Given the description of an element on the screen output the (x, y) to click on. 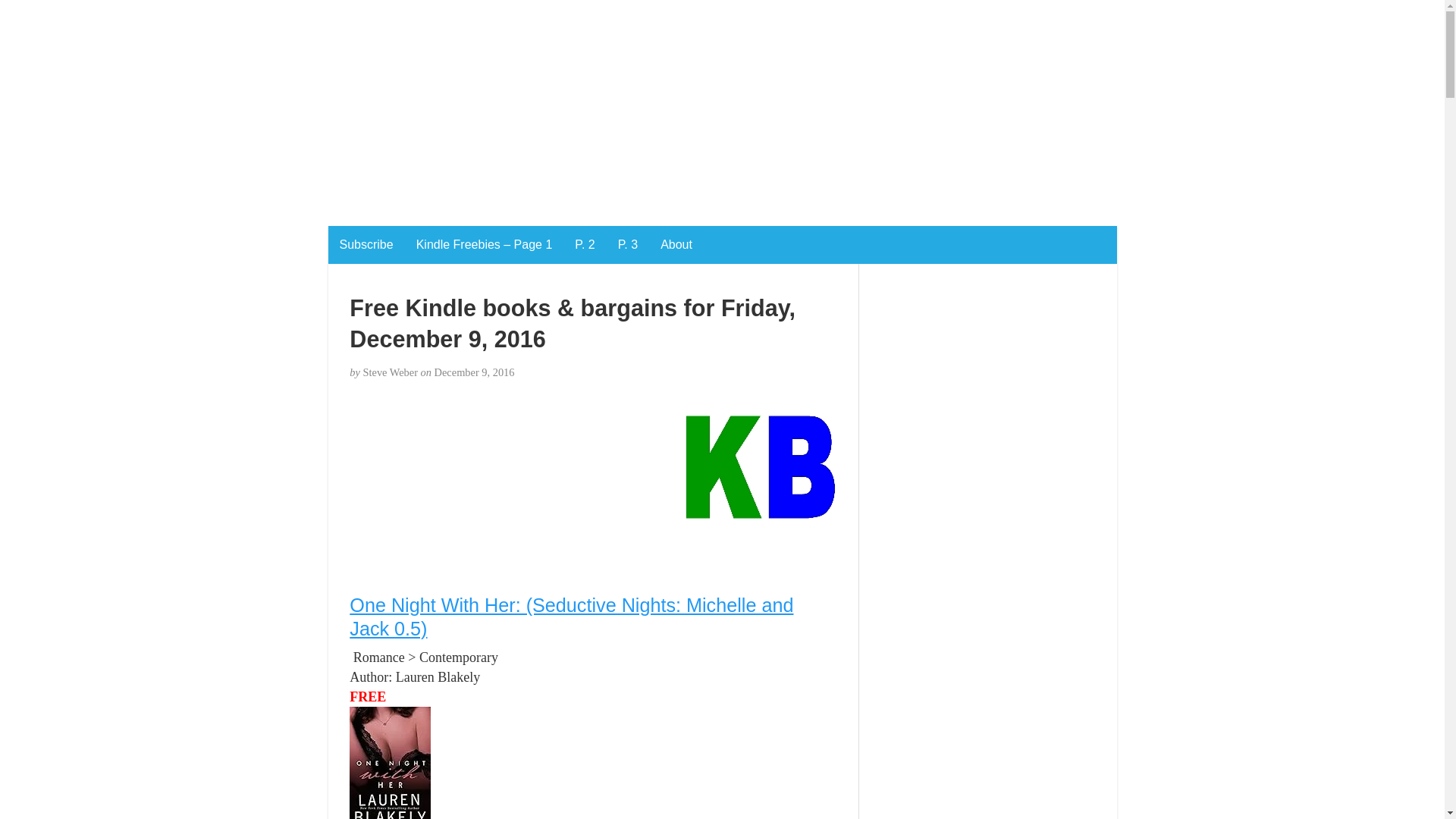
P. 3 (628, 244)
About (676, 244)
P. 3 (628, 244)
Subscribe (365, 244)
Subscribe (365, 244)
Kindle Freebies - Page 1 (484, 244)
P. 2 (584, 244)
About (676, 244)
P. 2 (584, 244)
